Given the description of an element on the screen output the (x, y) to click on. 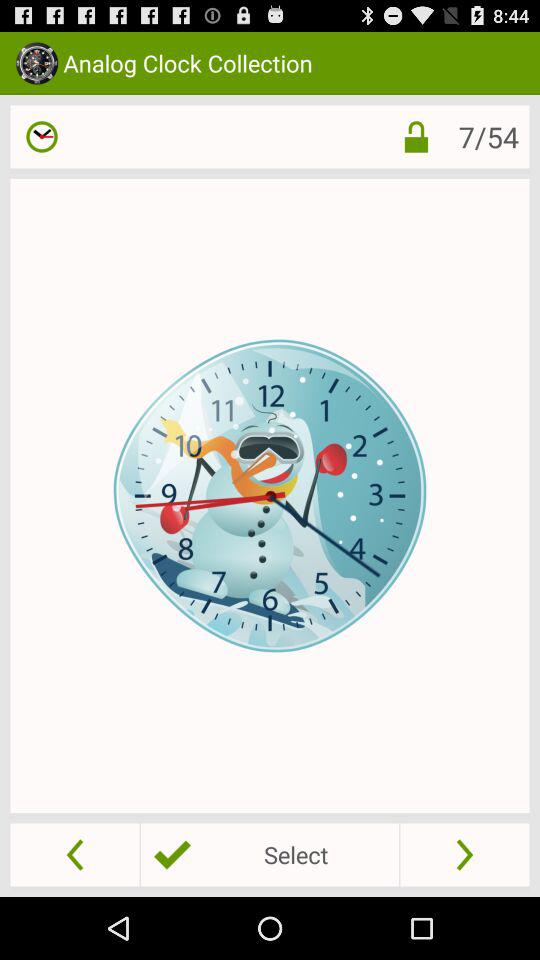
clock (41, 136)
